Given the description of an element on the screen output the (x, y) to click on. 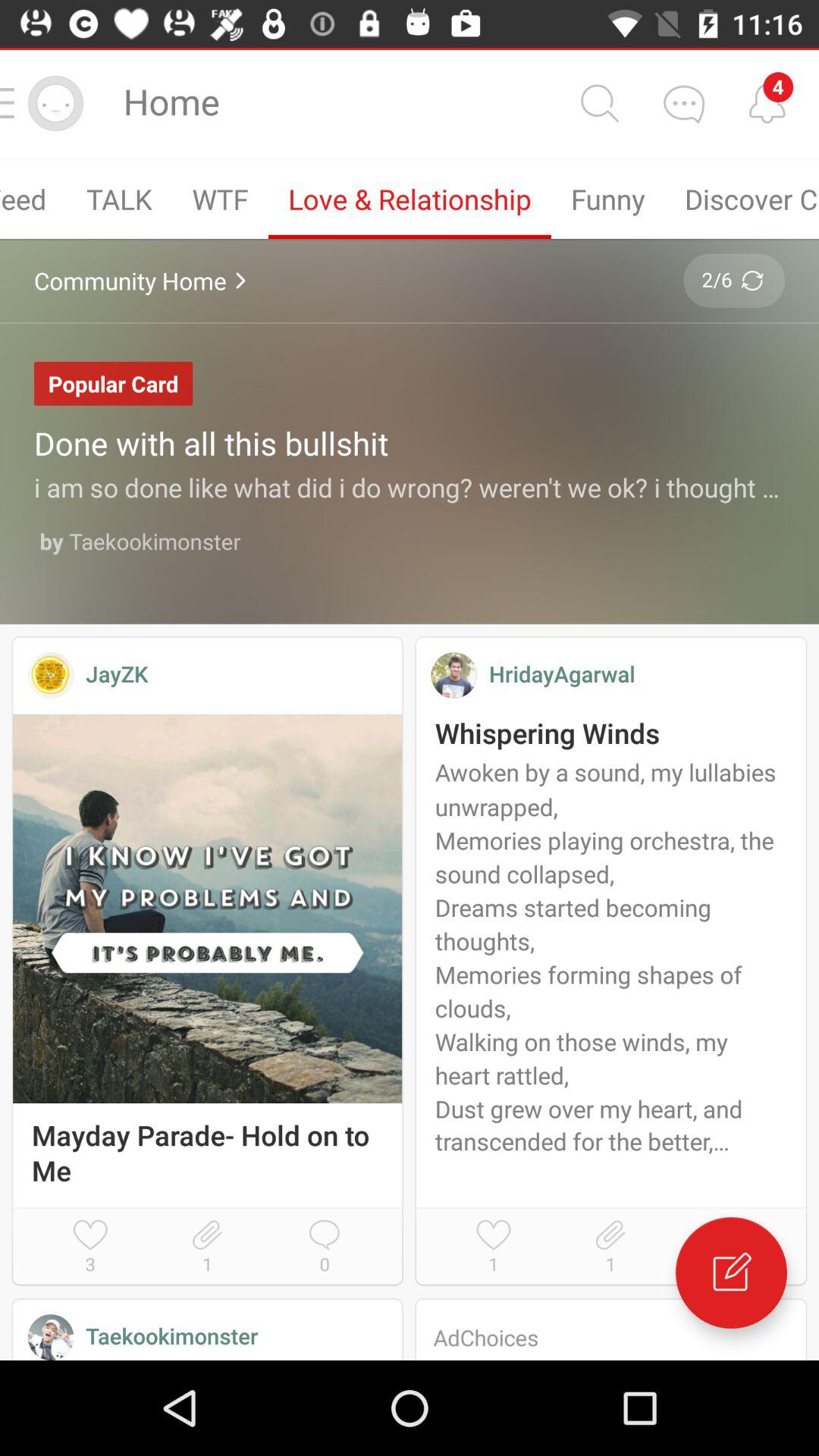
write (731, 1272)
